Given the description of an element on the screen output the (x, y) to click on. 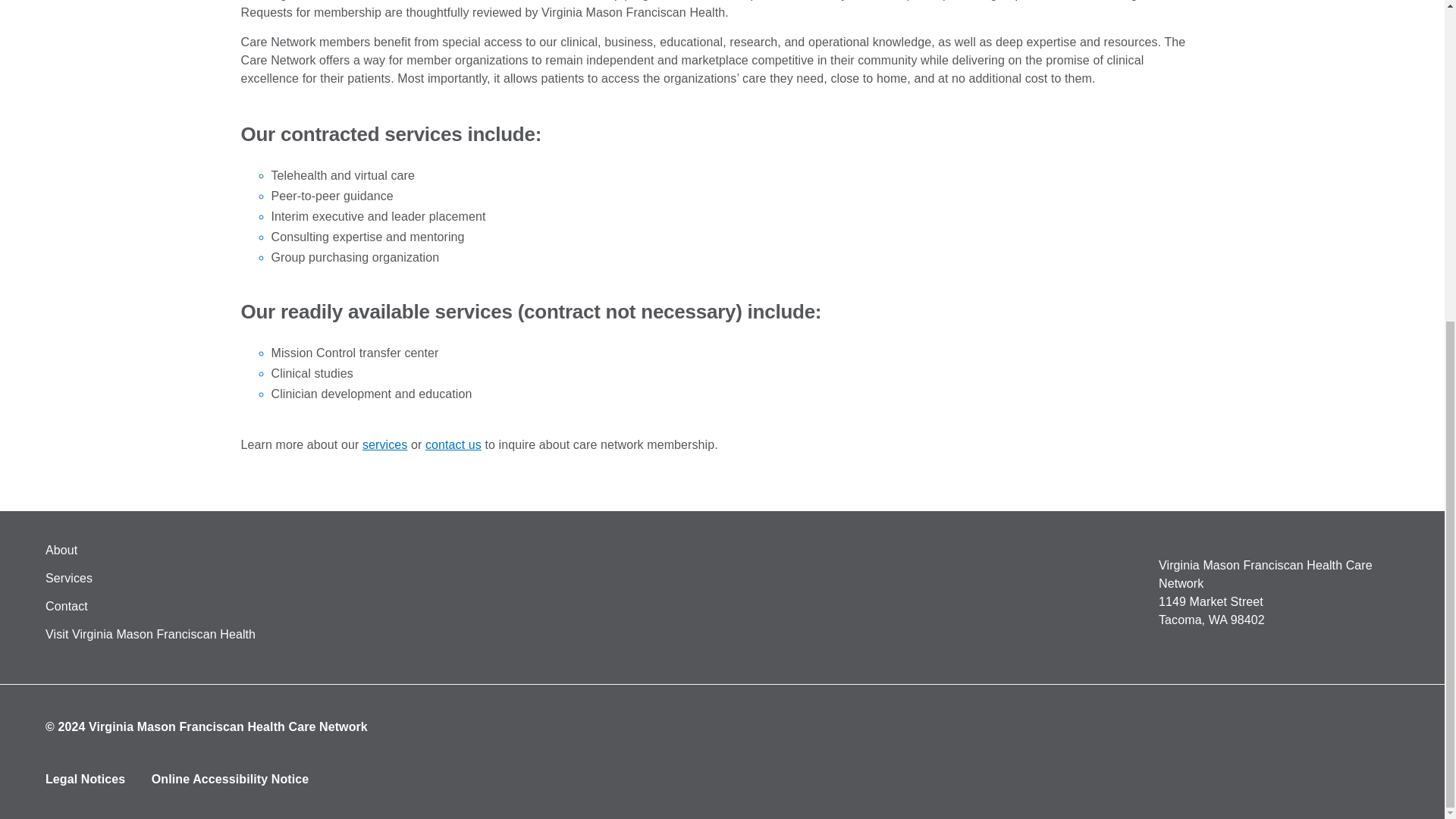
services (384, 444)
contact us (453, 444)
About (61, 549)
services (384, 444)
Services (69, 577)
Contact (66, 605)
Visit Virginia Mason Franciscan Health (150, 634)
contact us (453, 444)
Legal Notices (85, 779)
Online Accessibility Notice (229, 779)
